Given the description of an element on the screen output the (x, y) to click on. 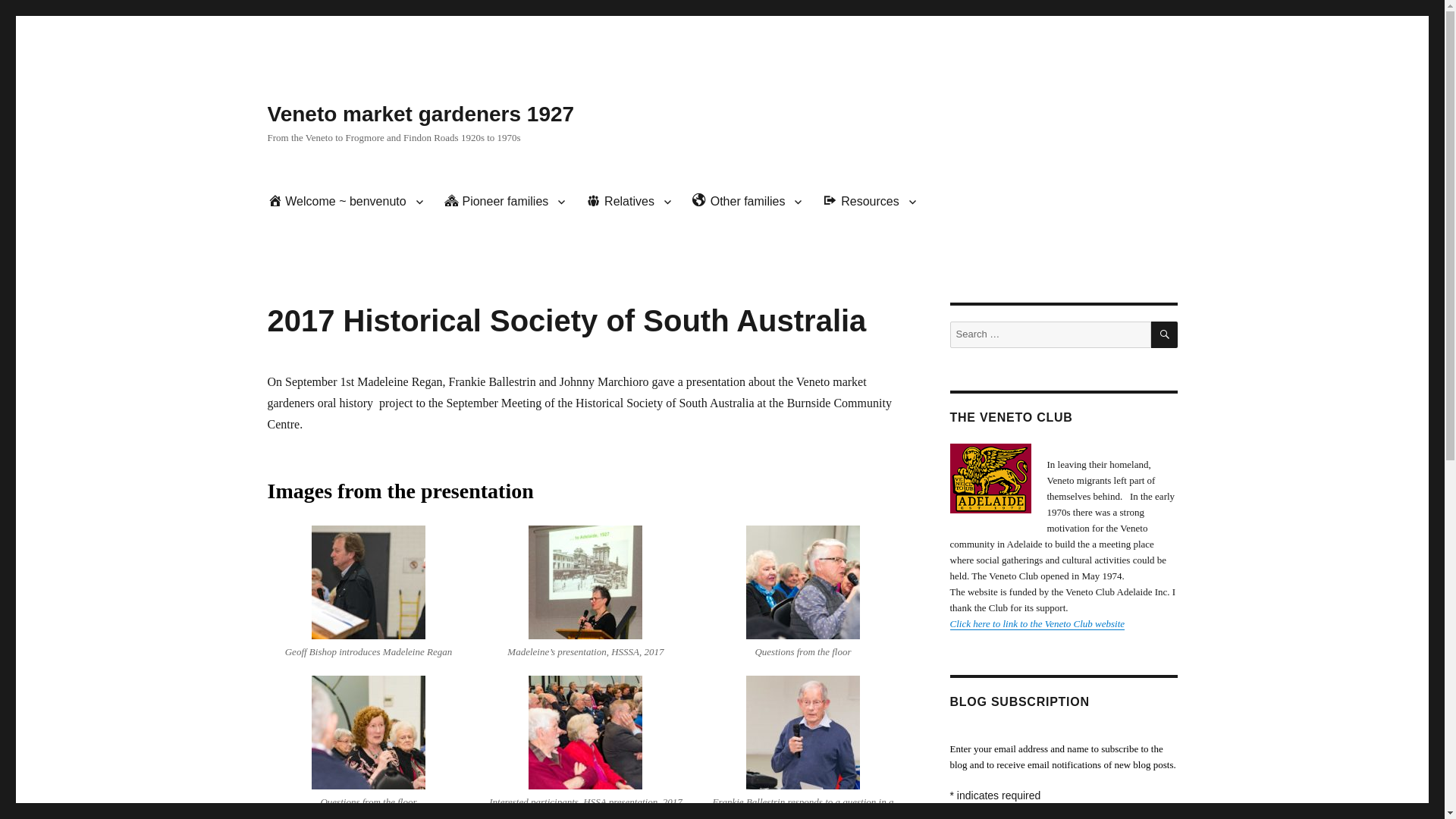
Veneto market gardeners 1927 (419, 114)
Other families (746, 201)
Relatives (628, 201)
Pioneer families (504, 201)
